Given the description of an element on the screen output the (x, y) to click on. 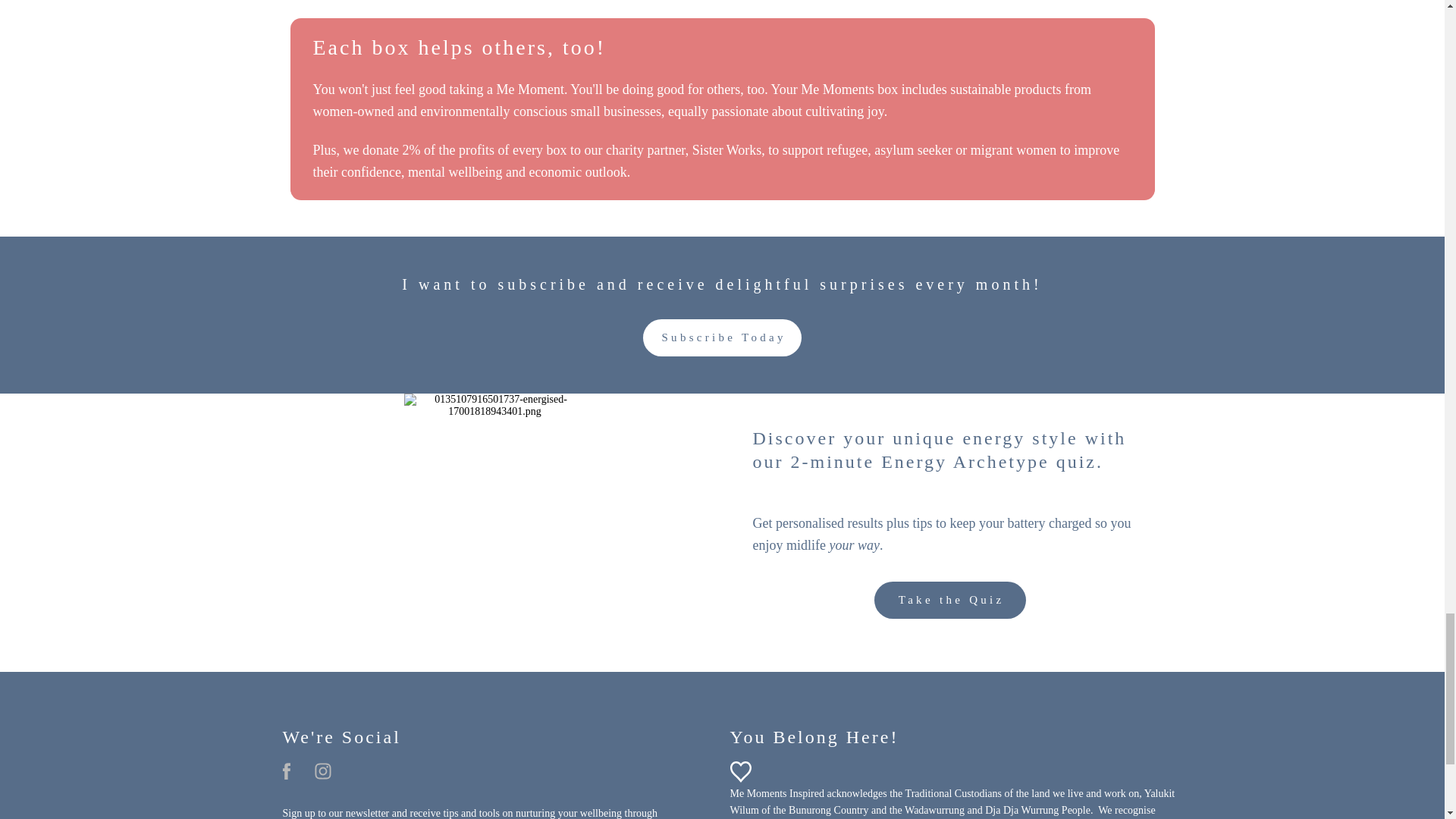
Take the Quiz (949, 600)
Subscribe Today (722, 337)
